Given the description of an element on the screen output the (x, y) to click on. 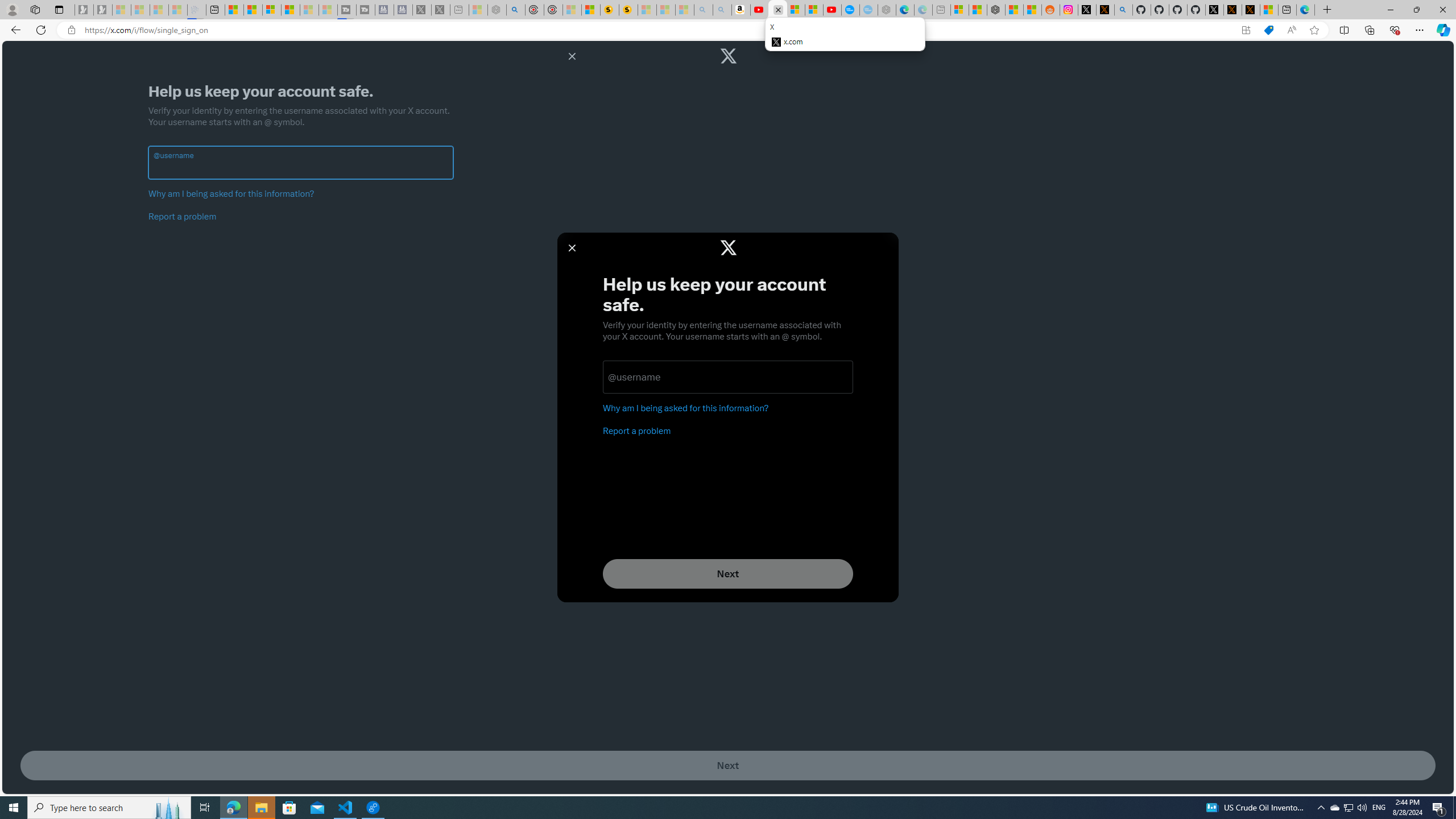
Microsoft Start - Sleeping (309, 9)
poe - Search (515, 9)
Opinion: Op-Ed and Commentary - USA TODAY (850, 9)
The most popular Google 'how to' searches - Sleeping (868, 9)
Shanghai, China Weather trends | Microsoft Weather (1032, 9)
Why am I being asked for this information? (231, 194)
